Given the description of an element on the screen output the (x, y) to click on. 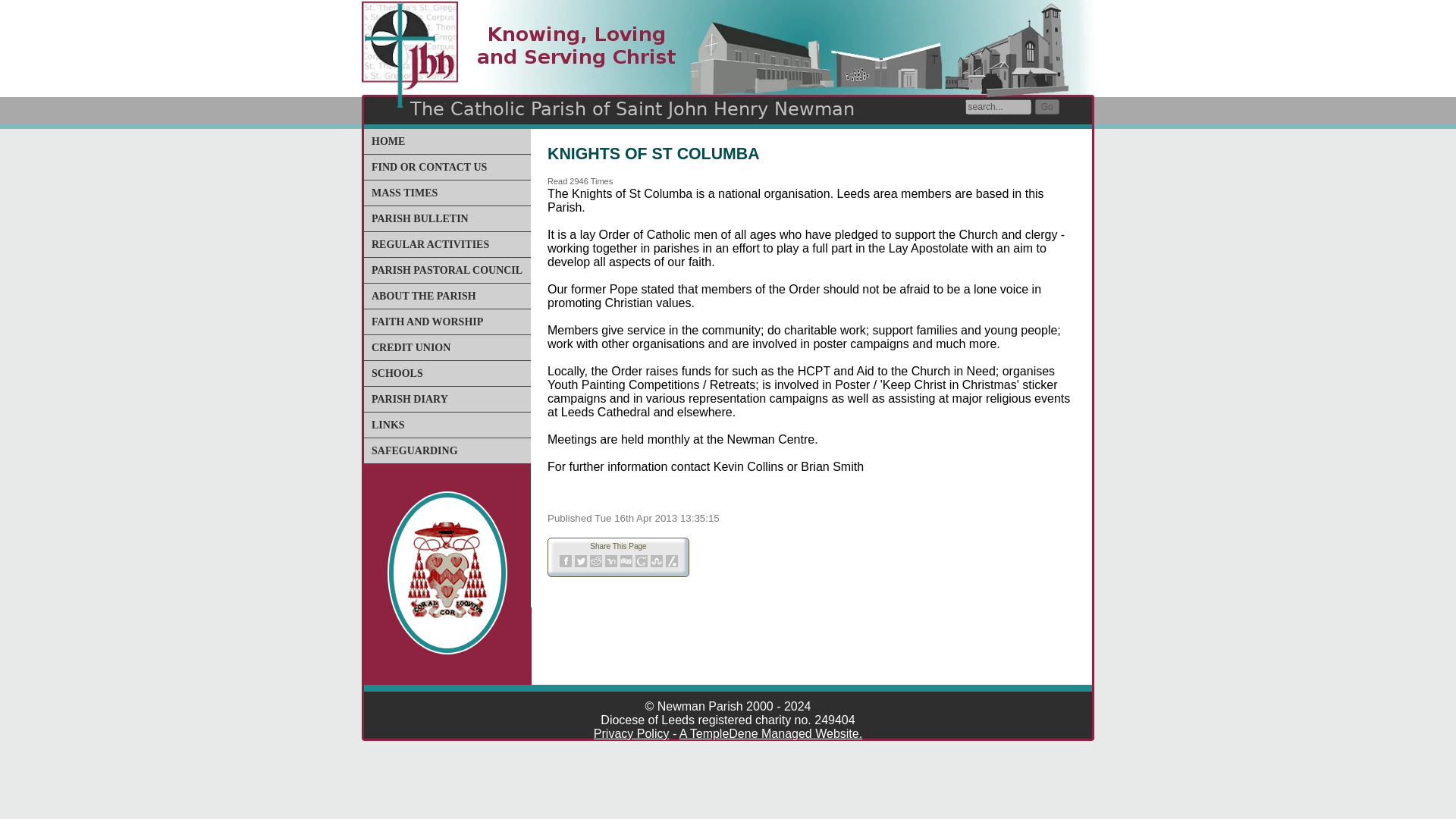
Go (1047, 106)
Share on Reddit (595, 561)
The Parish of the Bl. John Henry Newman (387, 141)
Parish Diary  (409, 398)
LINKS (387, 424)
Schools (397, 373)
A TempleDene Managed Website. (770, 733)
HOME (387, 141)
FAITH AND WORSHIP (427, 321)
search... (998, 106)
